Given the description of an element on the screen output the (x, y) to click on. 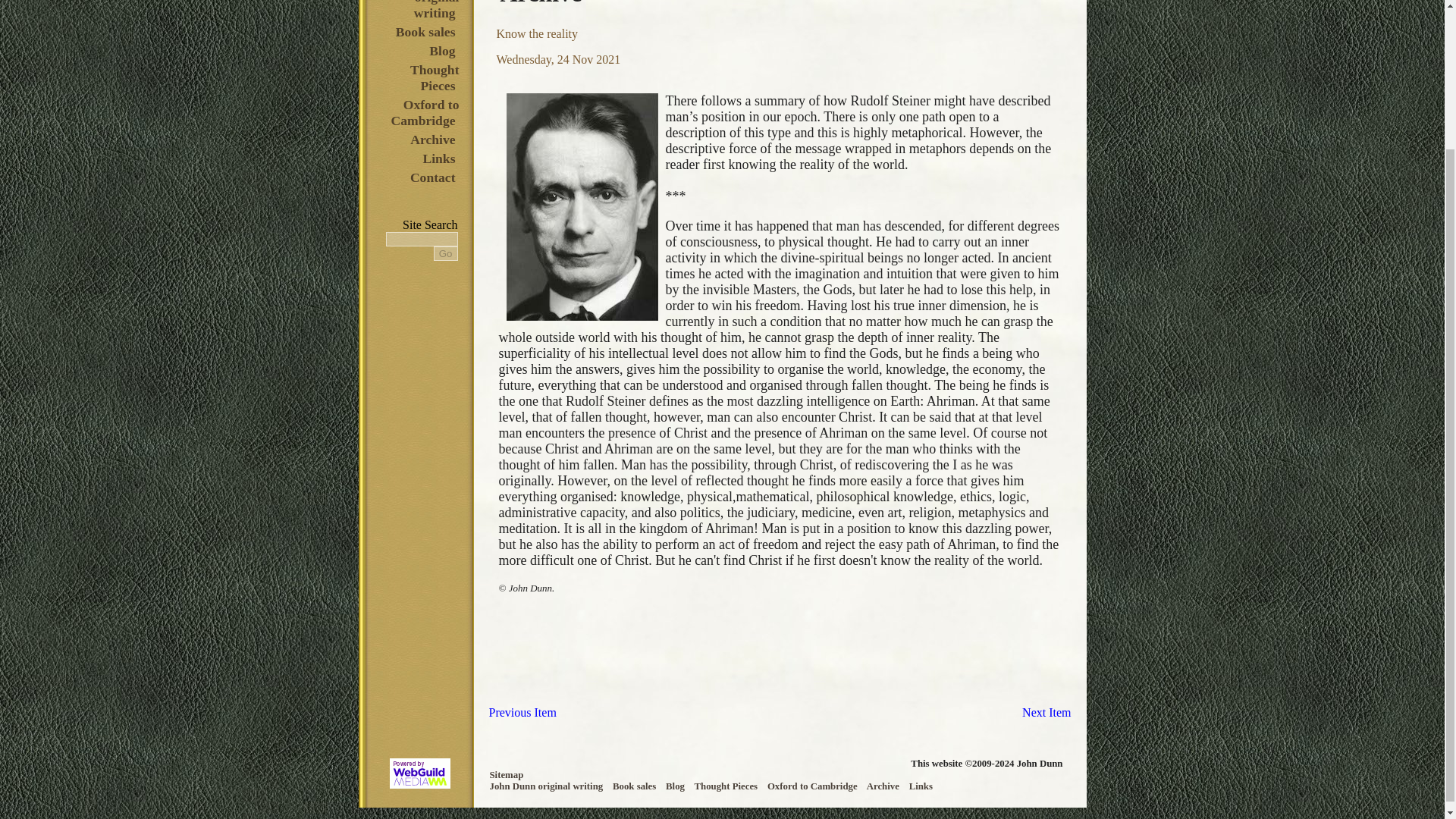
Book sales (635, 786)
Go (445, 253)
Thought Pieces (433, 77)
Blog (676, 786)
John Dunn original writing (425, 10)
John Dunn original writing (547, 786)
Blog (441, 50)
Go (445, 253)
Oxford to Cambridge (813, 786)
Contact (433, 177)
Book sales (425, 31)
Oxford to Cambridge (424, 112)
Previous Item (521, 712)
Links (922, 786)
Thought Pieces (727, 786)
